Given the description of an element on the screen output the (x, y) to click on. 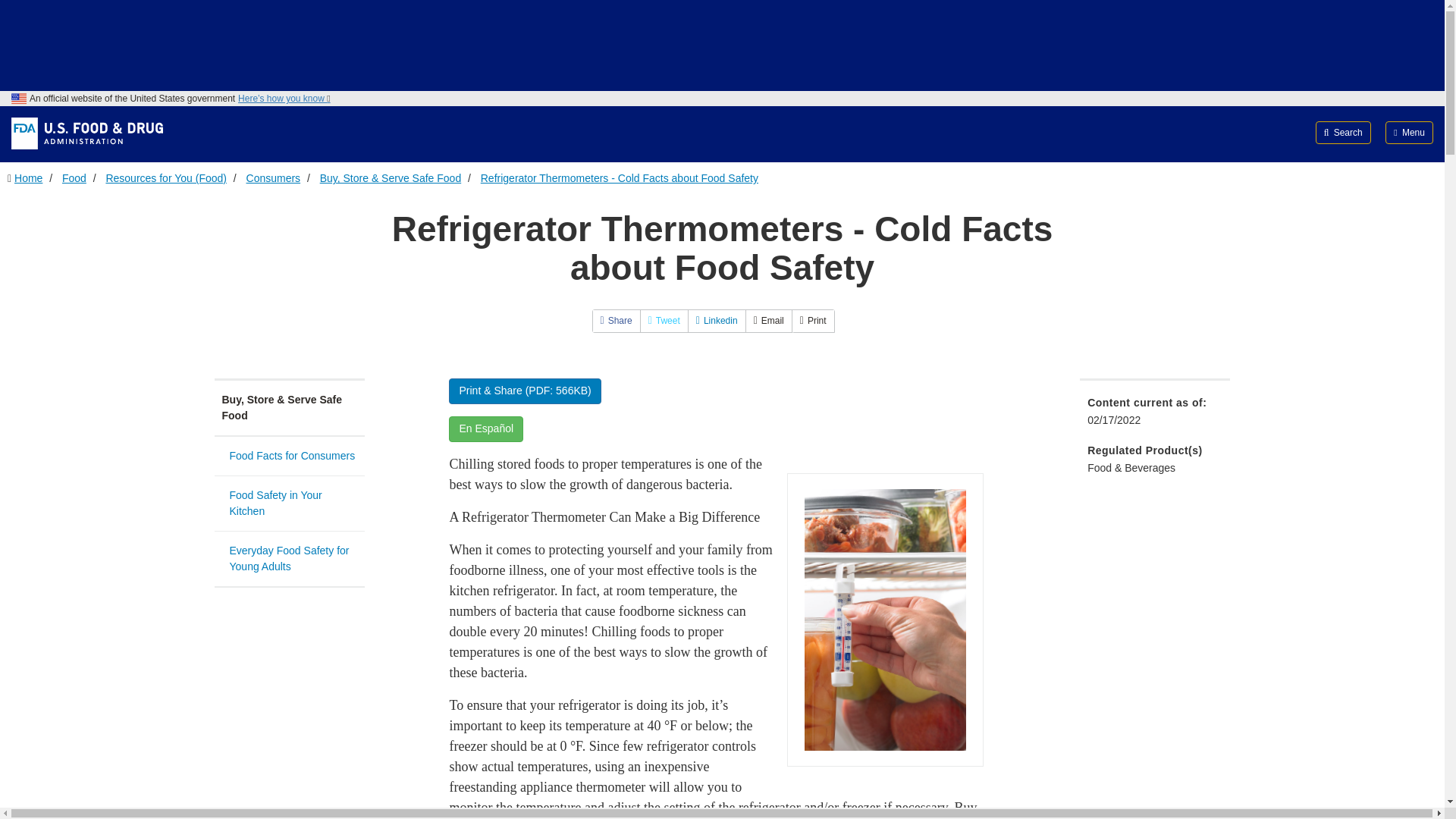
Food Facts on Refrigerator Thermometers (885, 619)
Print this page (813, 320)
  Search (1343, 132)
  Menu (1409, 132)
Food Facts on Refrigerator Thermometers (885, 619)
